Given the description of an element on the screen output the (x, y) to click on. 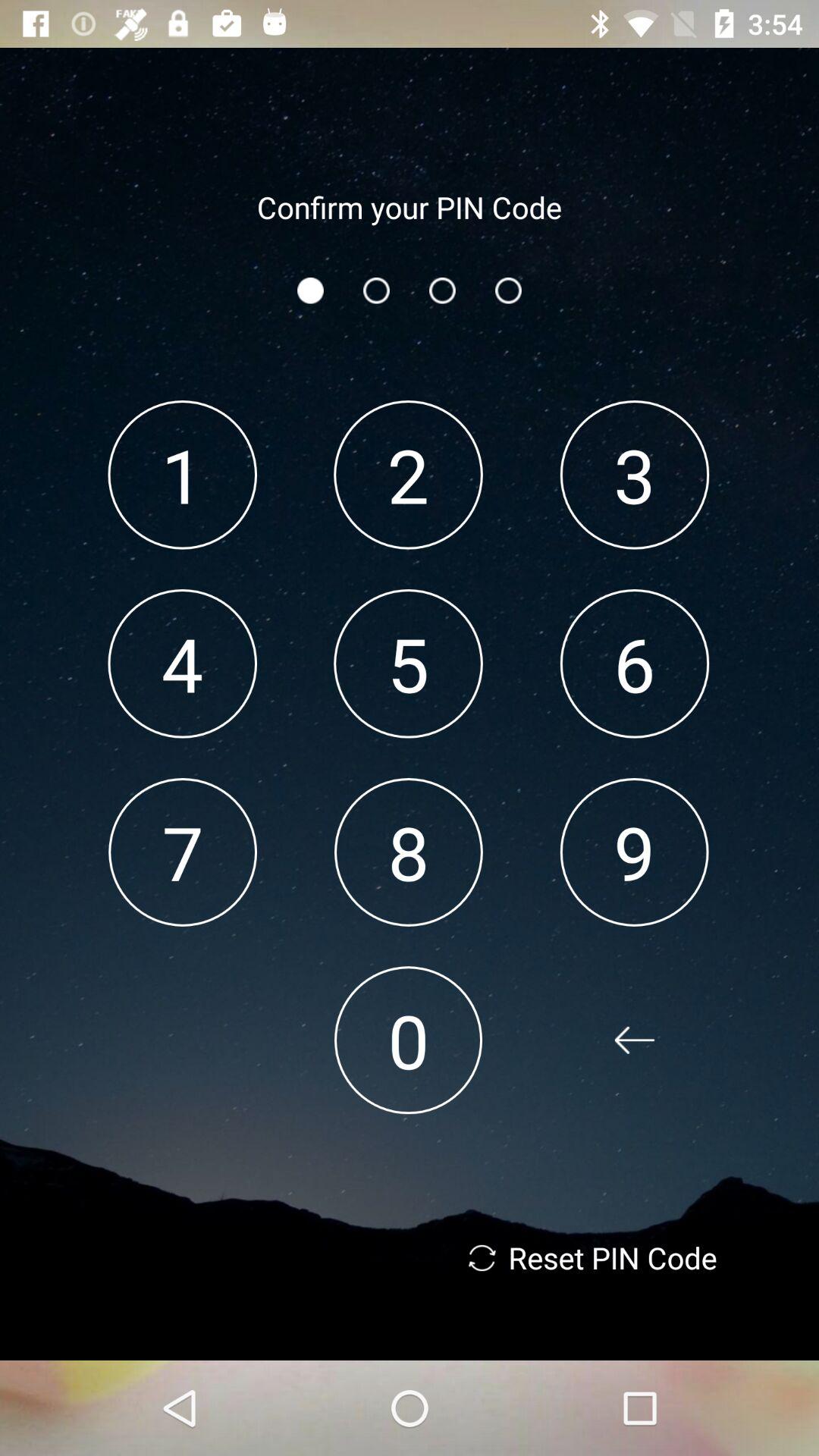
launch 5 item (407, 663)
